Given the description of an element on the screen output the (x, y) to click on. 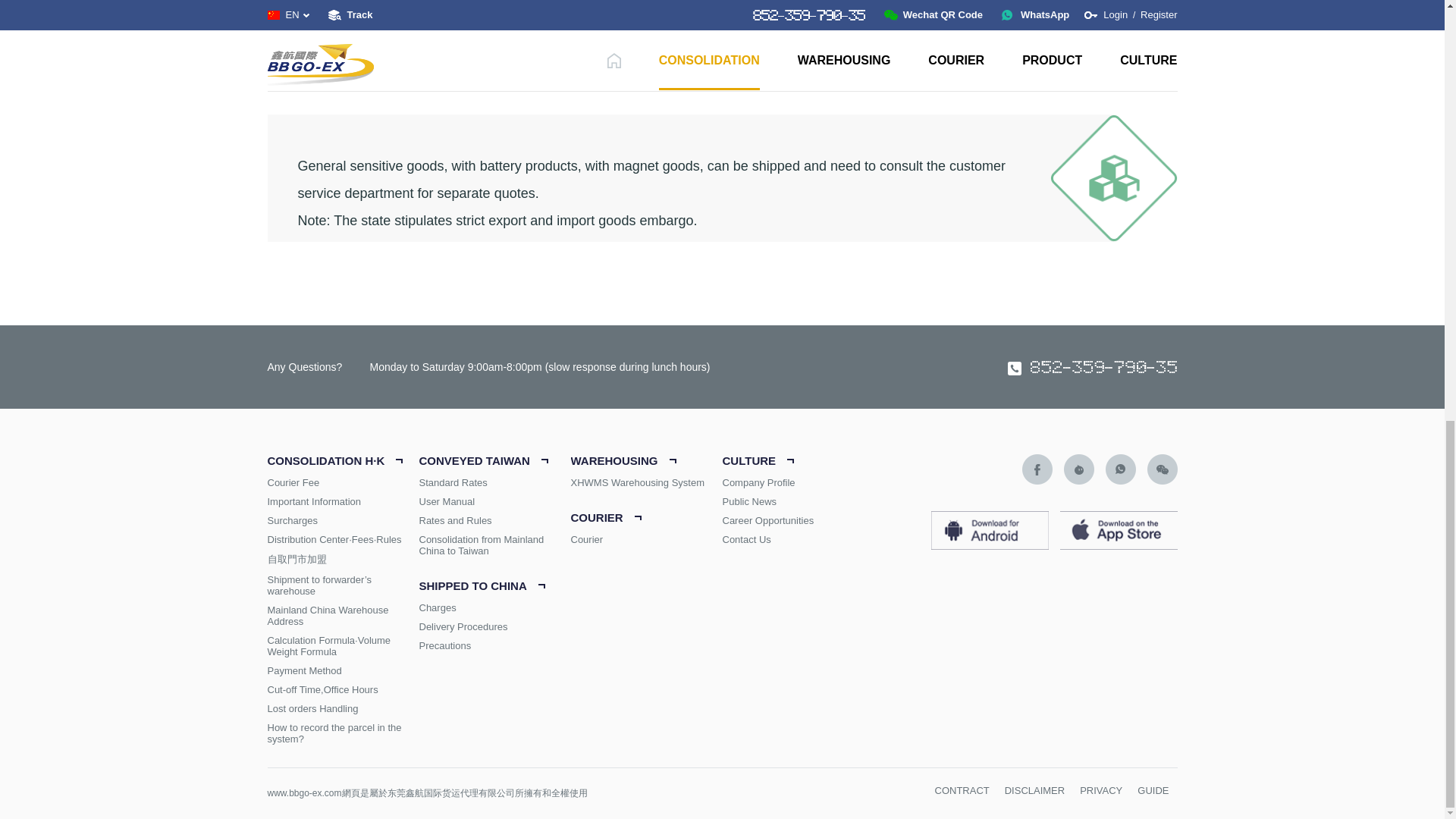
Courier Fee (342, 482)
Payment Method (342, 670)
Surcharges (342, 520)
Mainland China Warehouse Address (342, 615)
Important Information (342, 501)
Cut-off Time,Office Hours (342, 689)
